Given the description of an element on the screen output the (x, y) to click on. 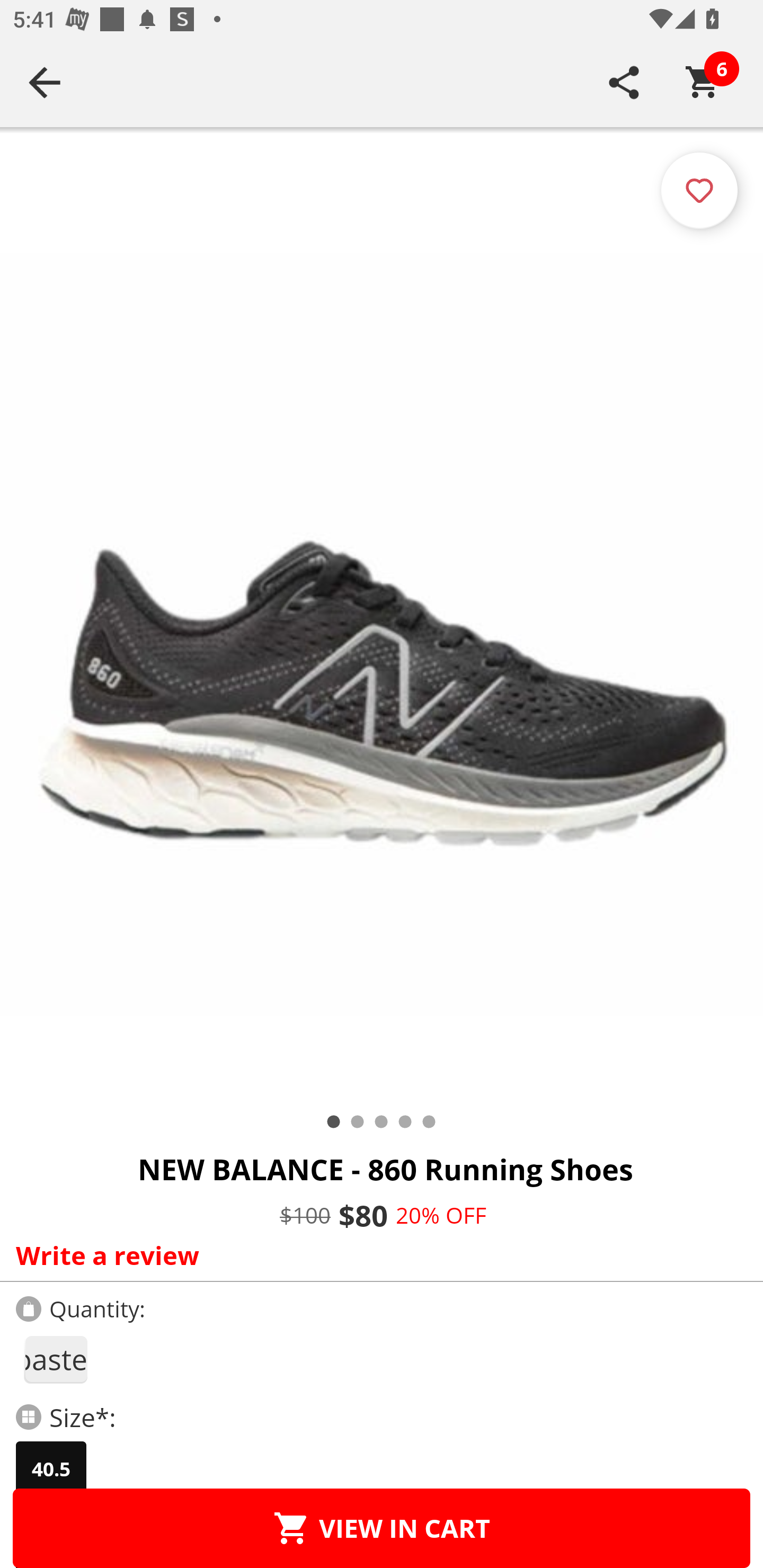
Navigate up (44, 82)
SHARE (623, 82)
Cart (703, 81)
Write a review (377, 1255)
1toothpaste (55, 1358)
40.5 (51, 1468)
VIEW IN CART (381, 1528)
